Given the description of an element on the screen output the (x, y) to click on. 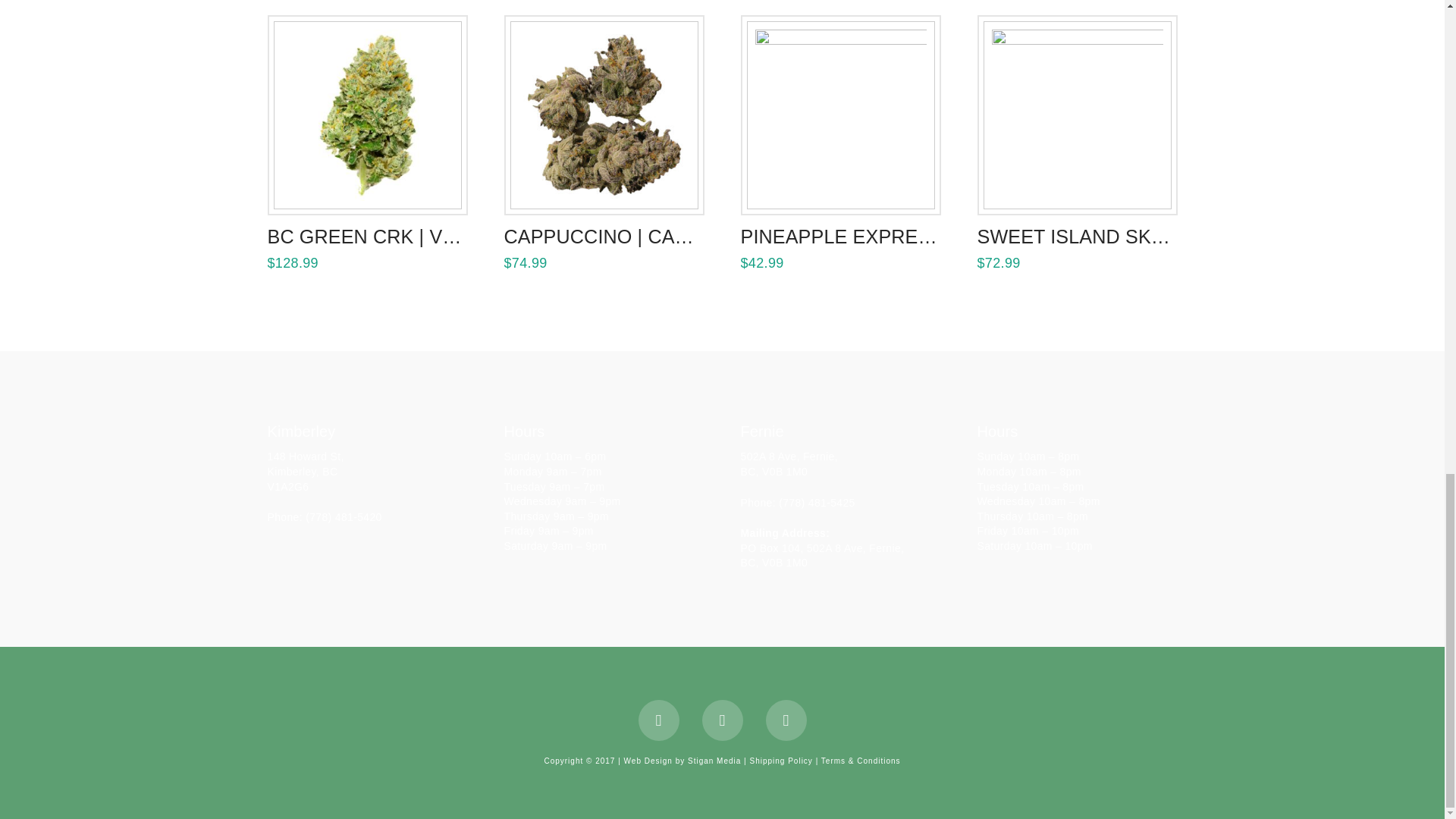
YouTube (721, 720)
Instagram (785, 720)
Facebook (659, 720)
